Given the description of an element on the screen output the (x, y) to click on. 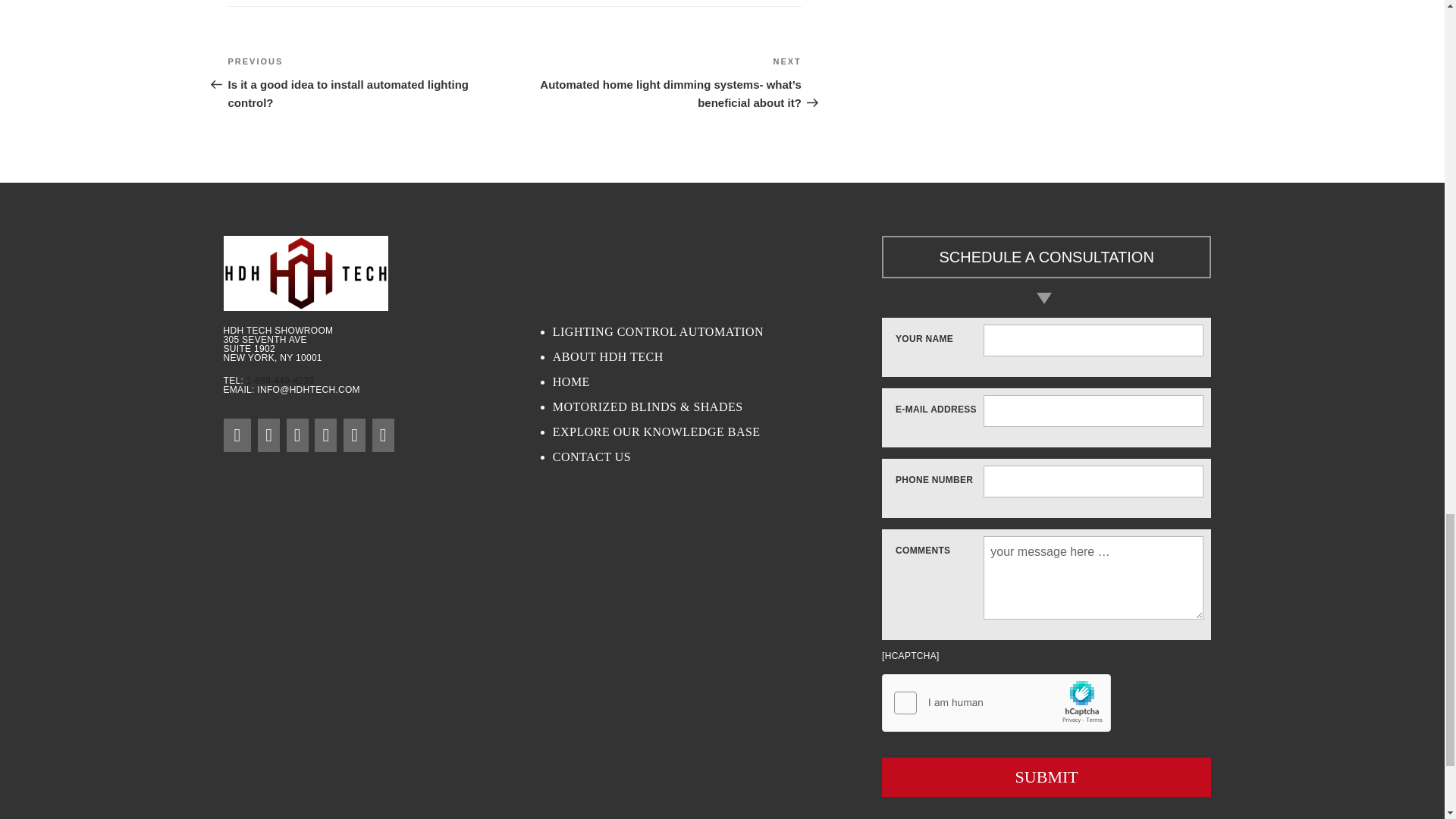
SUBMIT (1046, 776)
SCHEDULE A CONSULTATION (1046, 256)
Widget containing checkbox for hCaptcha security challenge (997, 703)
1-888-449-4233 (280, 380)
HOME (717, 382)
LIGHTING CONTROL AUTOMATION (717, 332)
EXPLORE OUR KNOWLEDGE BASE (717, 432)
CONTACT US (717, 456)
SUBMIT (1046, 776)
ABOUT HDH TECH (717, 356)
